Given the description of an element on the screen output the (x, y) to click on. 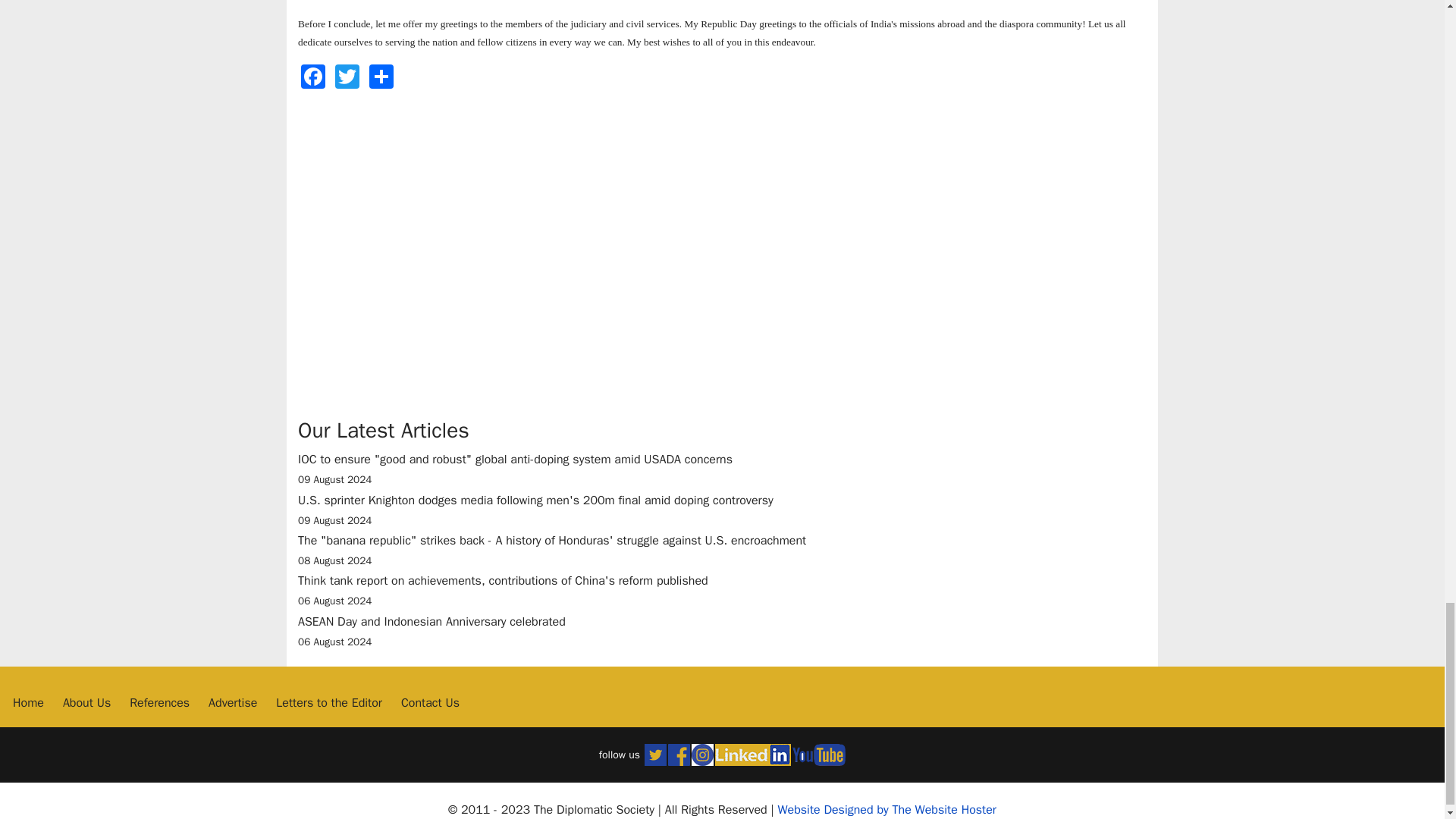
Home (28, 702)
Facebook (313, 75)
Advertisement (425, 194)
Letters to the Editor (328, 702)
Advertisement (540, 351)
Advertise (232, 702)
